Given the description of an element on the screen output the (x, y) to click on. 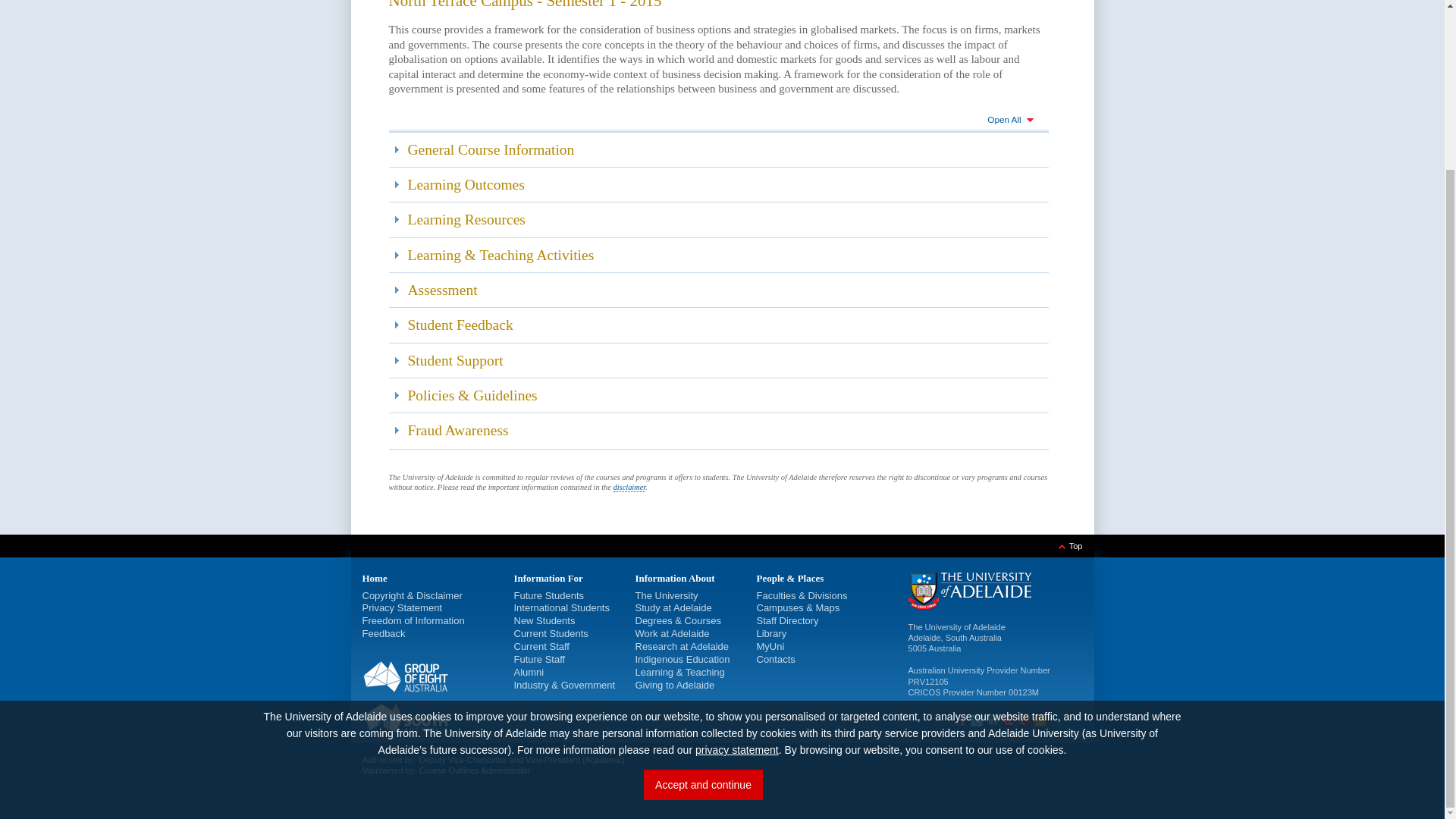
Information for Current Students (550, 633)
Learning Outcomes (718, 184)
Website Feedback (384, 633)
Job Opportunities (539, 659)
Information for Current Staff (541, 645)
Student Support (718, 360)
Information for Future or Prospective Students (549, 595)
Copyright Information (383, 595)
Information for International Students (561, 607)
Orientation Information for Students (544, 620)
Freedom of Information (413, 620)
Privacy Statement (402, 607)
Website Disclaimer (439, 595)
Open All (718, 120)
General Course Information (718, 149)
